Given the description of an element on the screen output the (x, y) to click on. 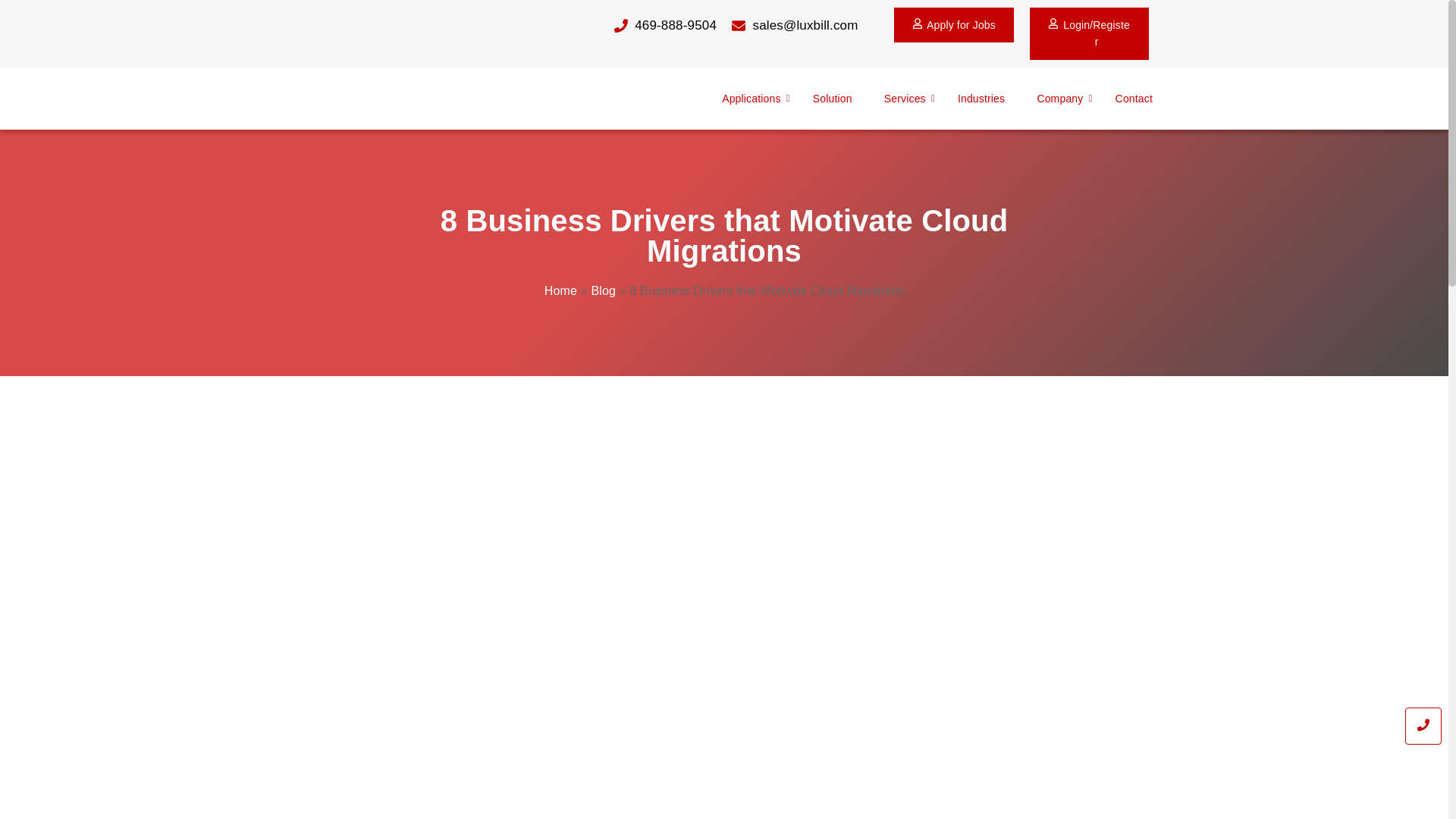
Applications (750, 98)
Industries (981, 98)
Company (1059, 98)
Contact (1134, 98)
Services (905, 98)
469-888-9504 (639, 25)
Solution (832, 98)
Apply for Jobs (953, 24)
